Given the description of an element on the screen output the (x, y) to click on. 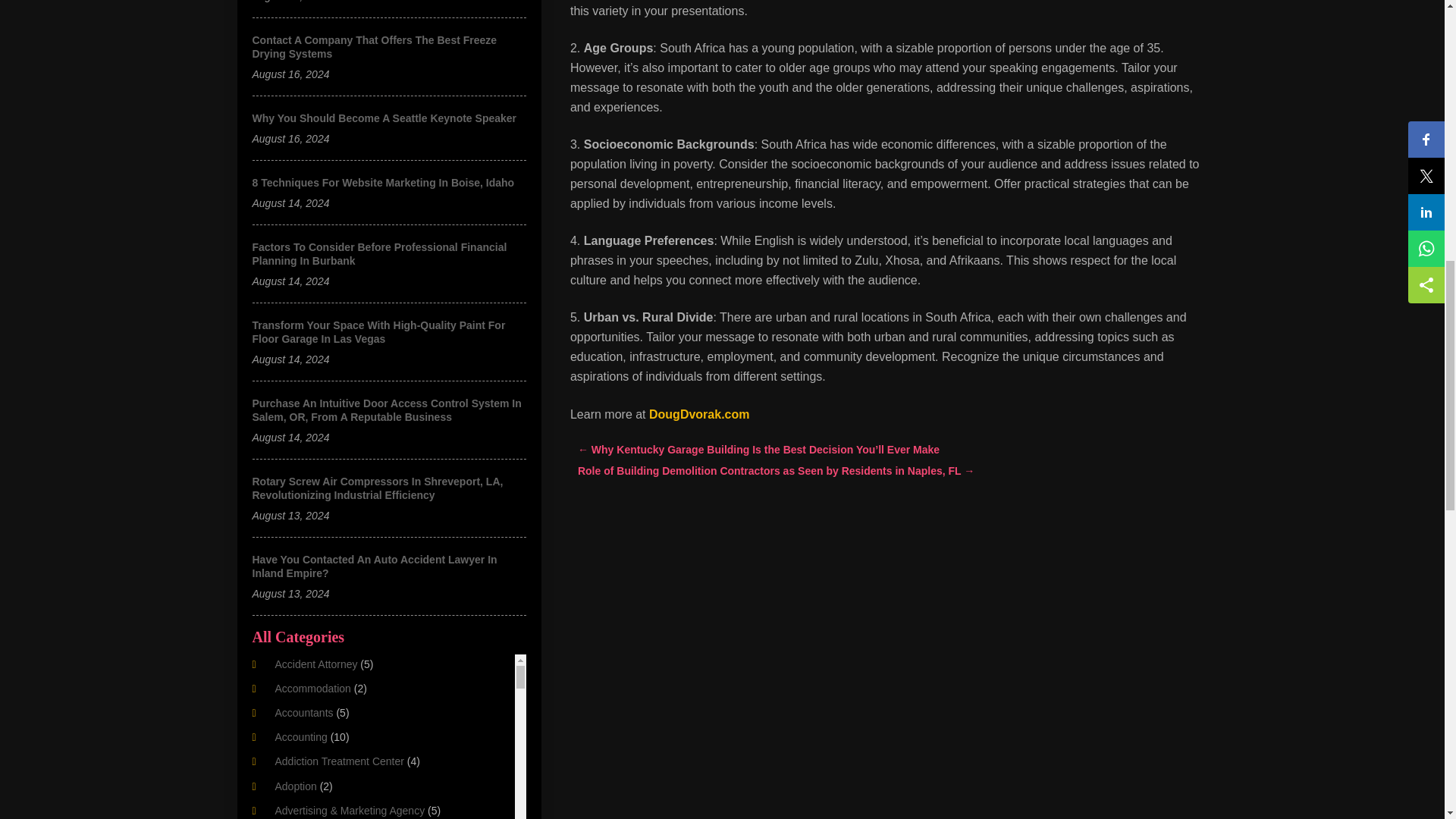
Accountants (304, 712)
Accommodation (312, 688)
8 Techniques For Website Marketing In Boise, Idaho (382, 182)
Adoption (295, 786)
Accounting (300, 736)
Contact A Company That Offers The Best Freeze Drying Systems (373, 46)
